Given the description of an element on the screen output the (x, y) to click on. 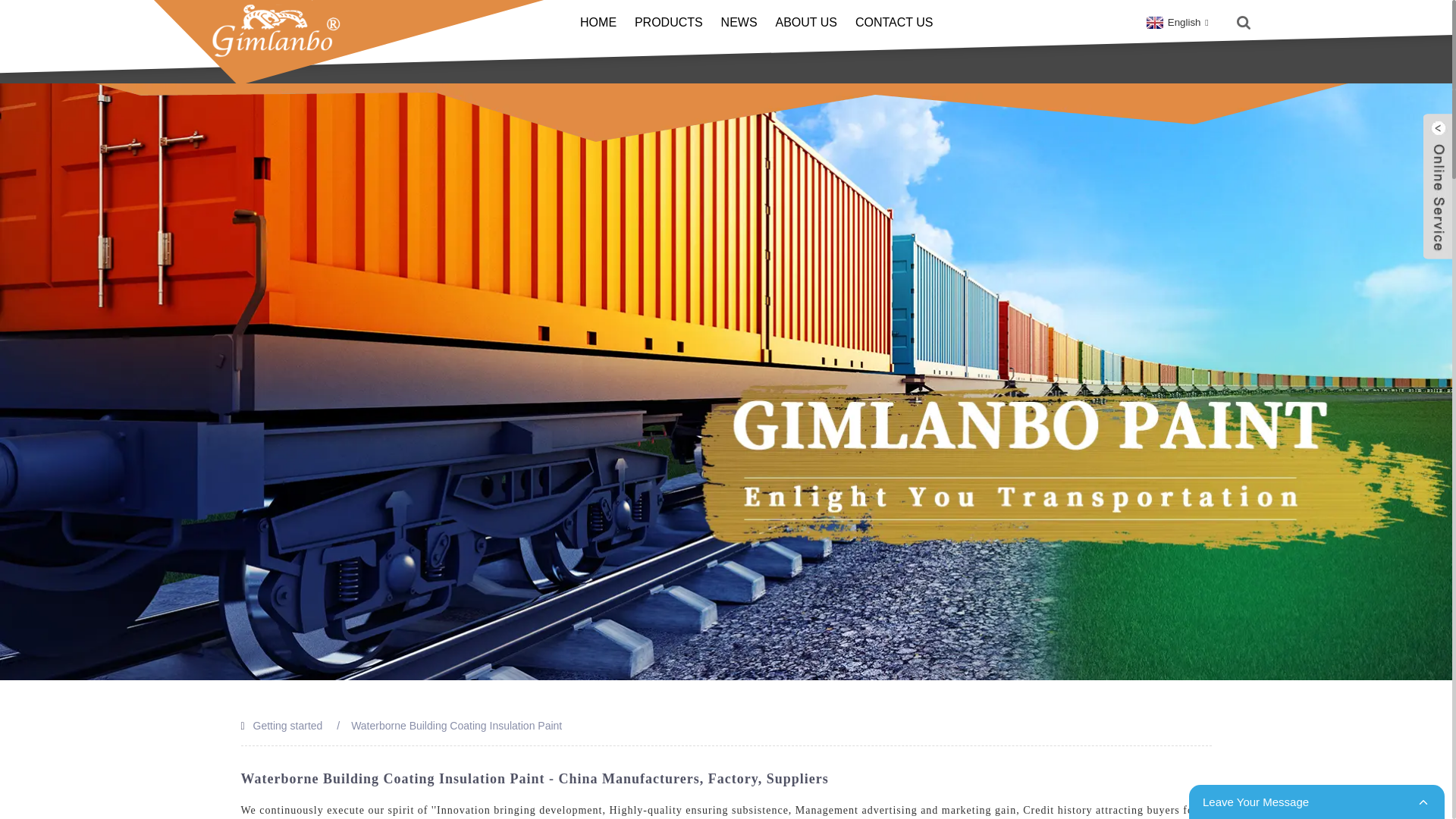
ABOUT US (805, 22)
CONTACT US (894, 22)
Getting started (288, 725)
Waterborne Building Coating Insulation Paint (456, 725)
English (1175, 21)
PRODUCTS (668, 22)
